Given the description of an element on the screen output the (x, y) to click on. 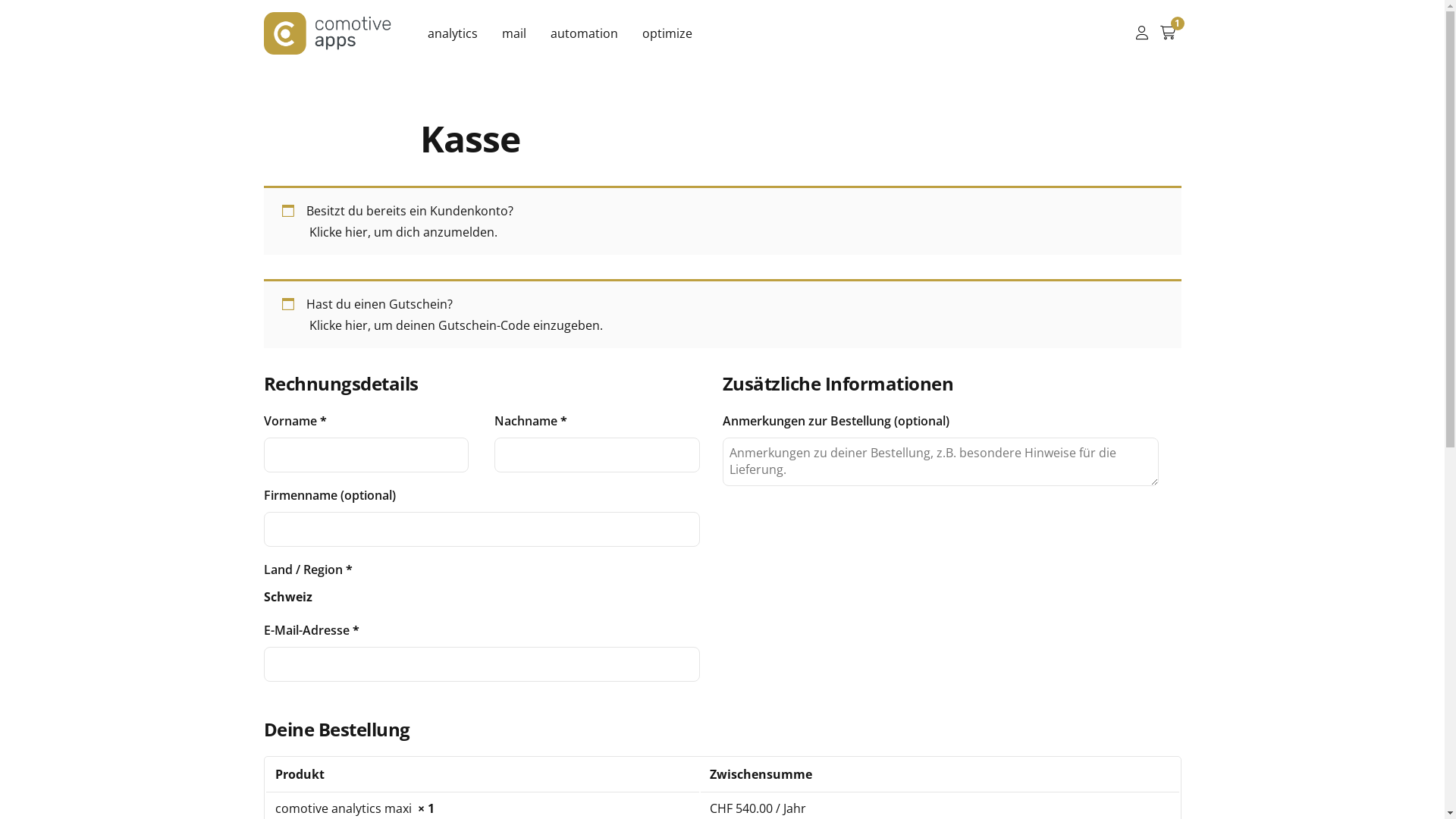
optimize Element type: text (666, 33)
1 Element type: text (1167, 32)
mail Element type: text (513, 33)
Klicke hier, um deinen Gutschein-Code einzugeben. Element type: text (455, 324)
automation Element type: text (584, 33)
analytics Element type: text (452, 33)
Klicke hier, um dich anzumelden. Element type: text (403, 231)
